Given the description of an element on the screen output the (x, y) to click on. 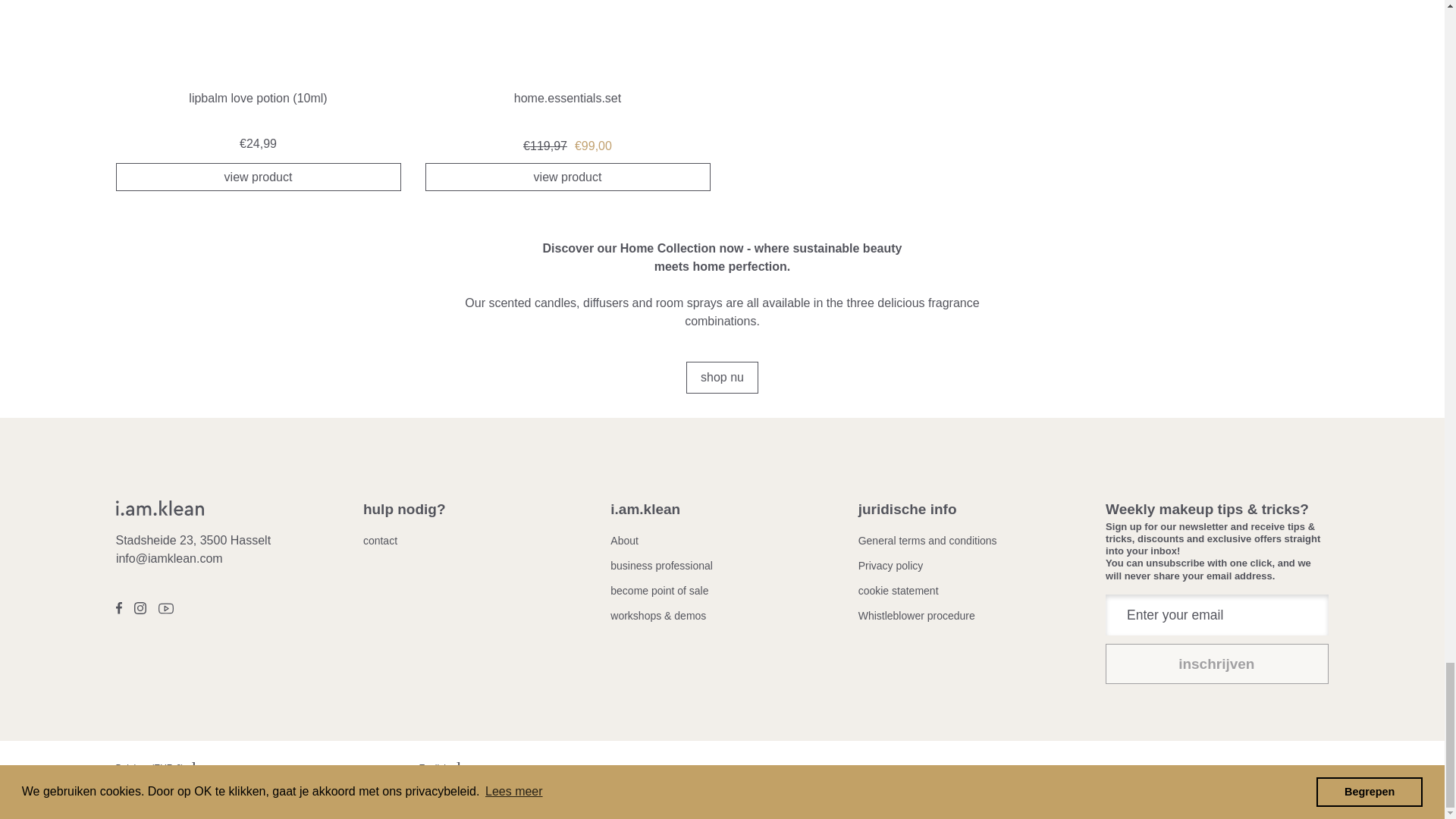
Maestro (1174, 791)
PayPal (1244, 791)
American Express (1069, 791)
Apple Pay (1104, 791)
View home.essentials.set (567, 66)
Bancontact (1139, 791)
Mastercard (1209, 791)
Union Pay (1279, 791)
inschrijven (1216, 663)
Visa (1313, 791)
